Given the description of an element on the screen output the (x, y) to click on. 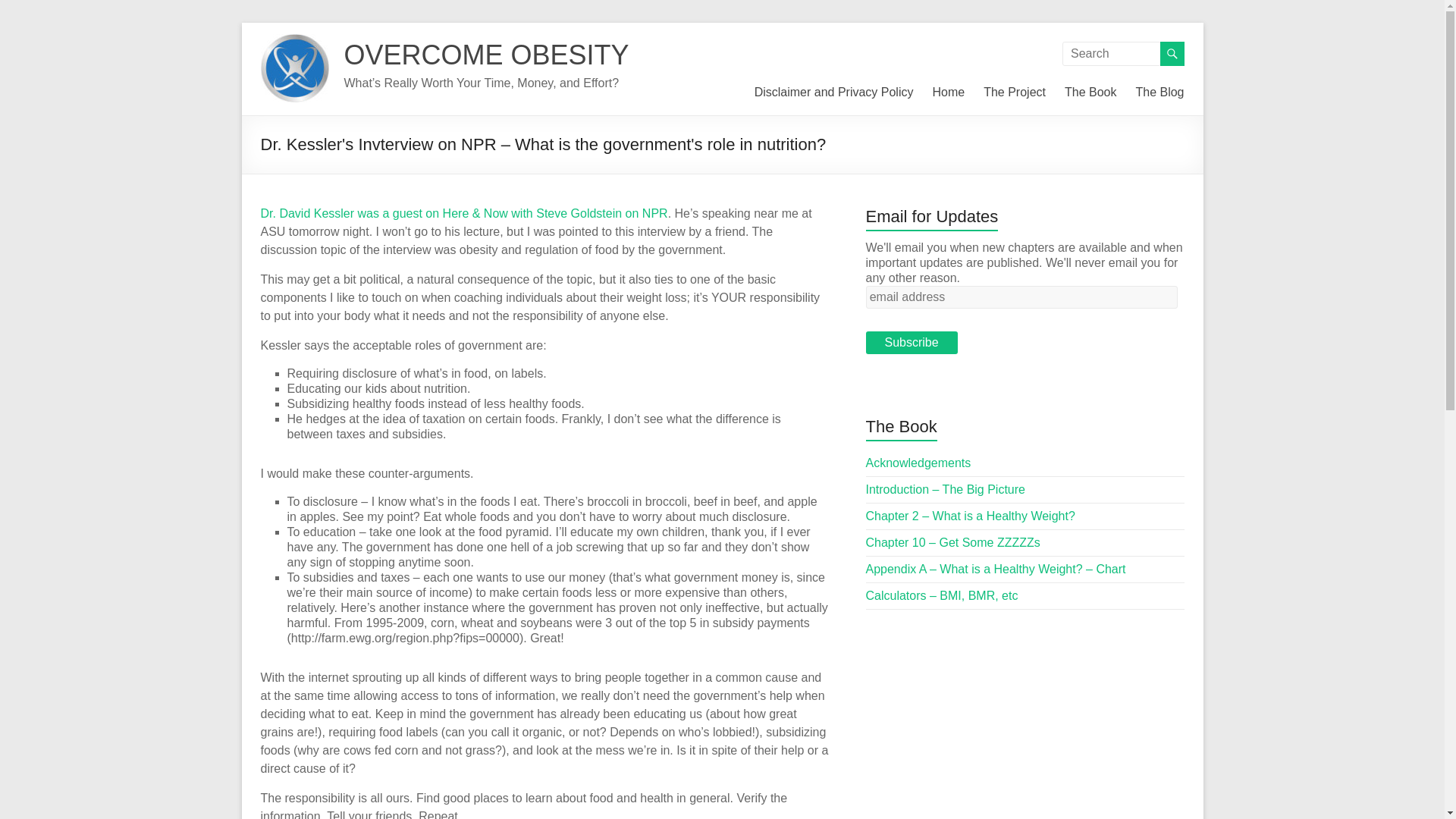
The Project (1014, 92)
OVERCOME OBESITY (485, 54)
OVERCOME OBESITY (485, 54)
Acknowledgements (918, 462)
The Book (1090, 92)
The Blog (1159, 92)
Disclaimer and Privacy Policy (834, 92)
Subscribe (912, 342)
Subscribe (912, 342)
Home (947, 92)
